Given the description of an element on the screen output the (x, y) to click on. 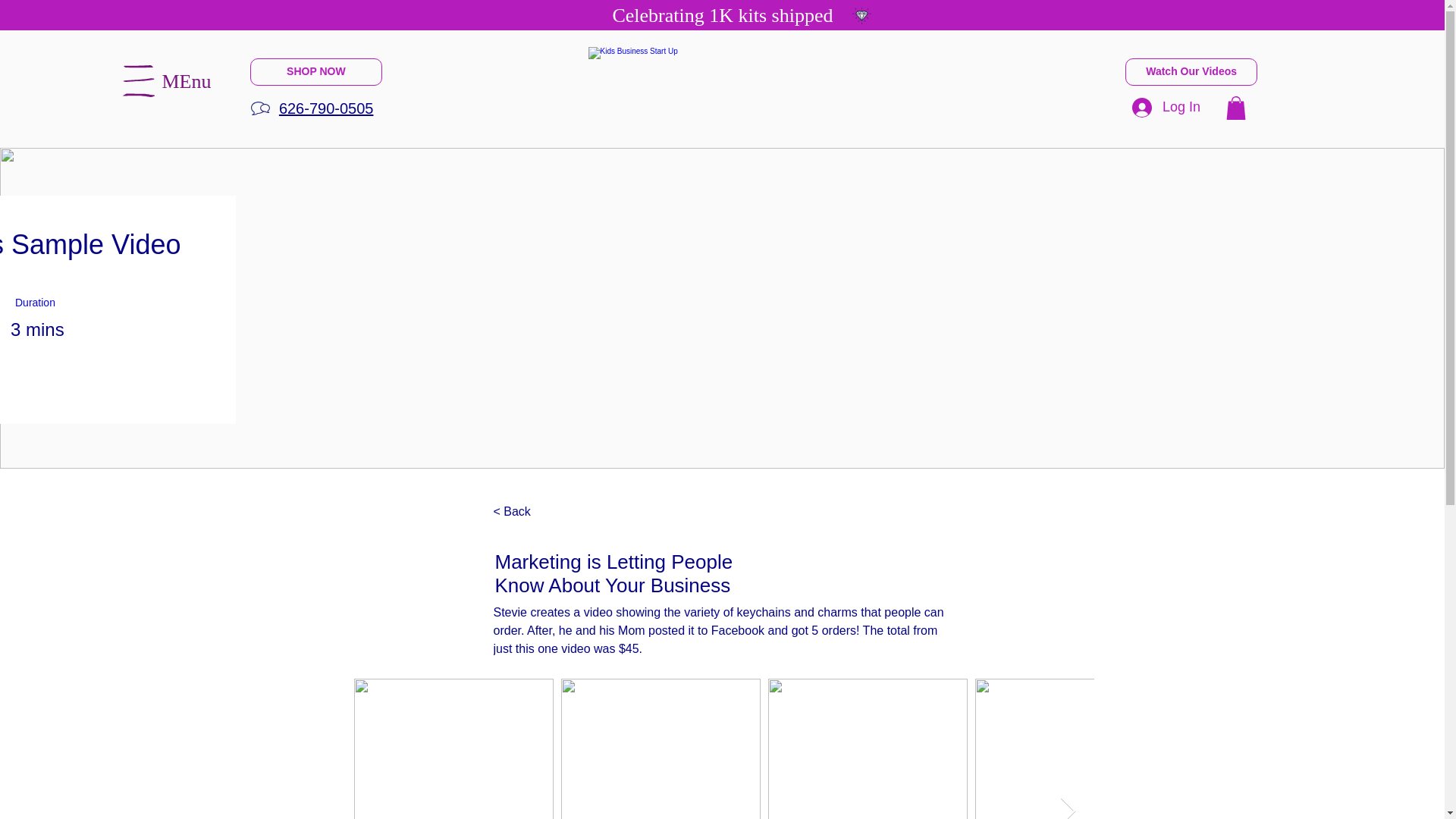
626-790-0505 (326, 108)
Log In (1166, 107)
MEnu (186, 80)
Watch Our Videos (1191, 71)
SHOP NOW (315, 71)
